Given the description of an element on the screen output the (x, y) to click on. 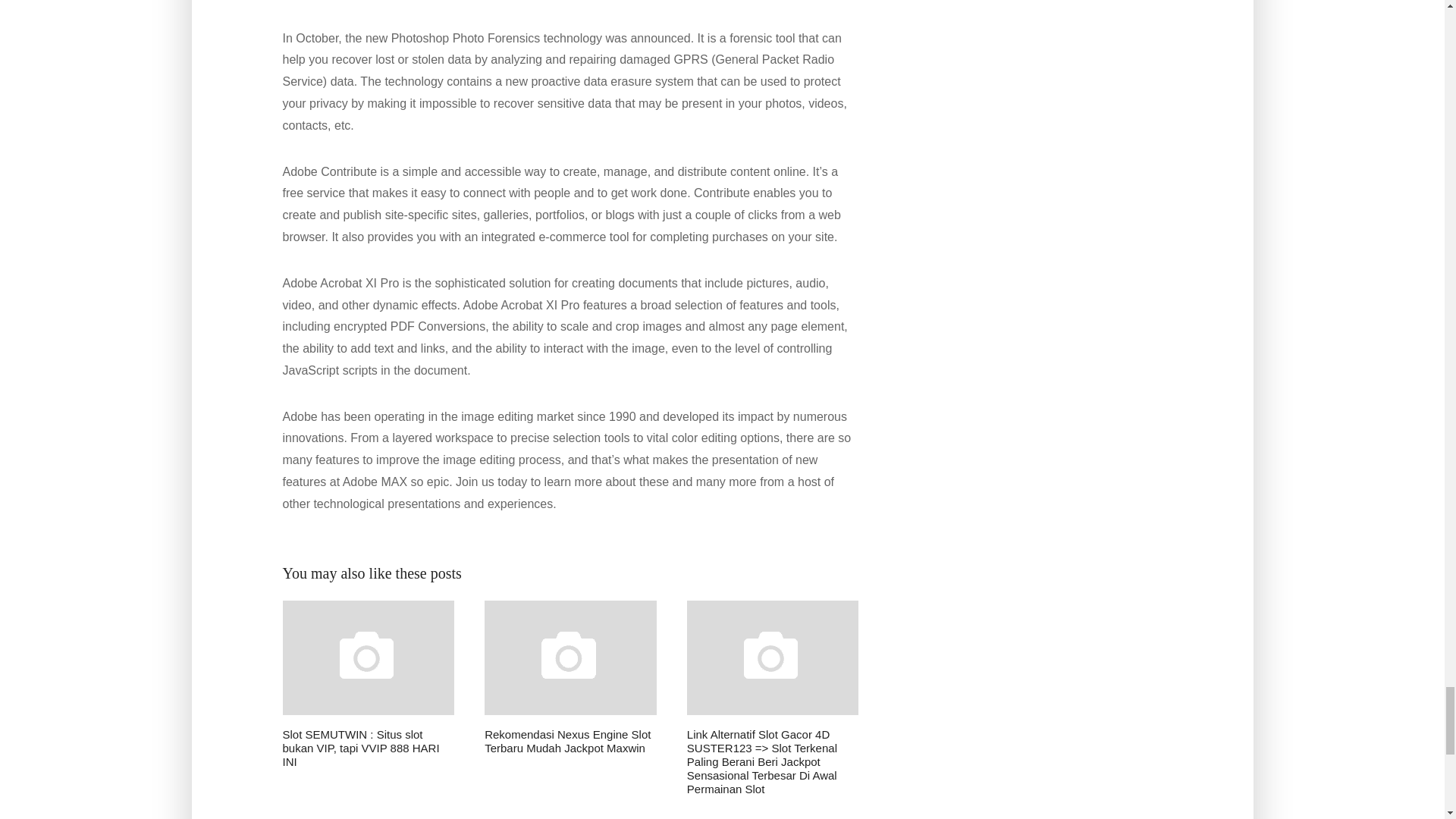
Slot SEMUTWIN : Situs slot bukan VIP, tapi VVIP 888 HARI INI (368, 684)
Rekomendasi Nexus Engine Slot Terbaru Mudah Jackpot Maxwin (570, 677)
